Given the description of an element on the screen output the (x, y) to click on. 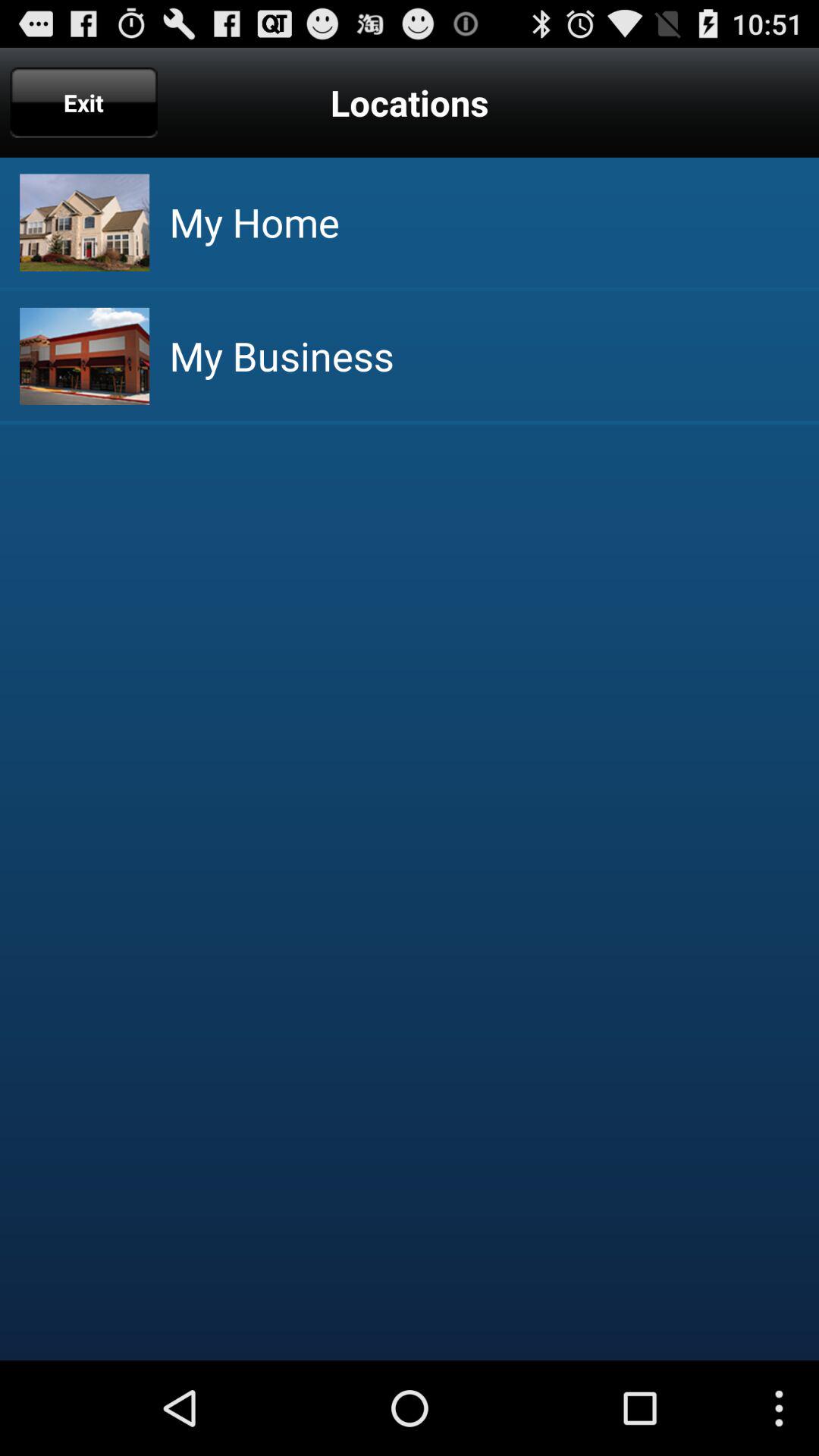
turn on the item above my business icon (254, 222)
